Given the description of an element on the screen output the (x, y) to click on. 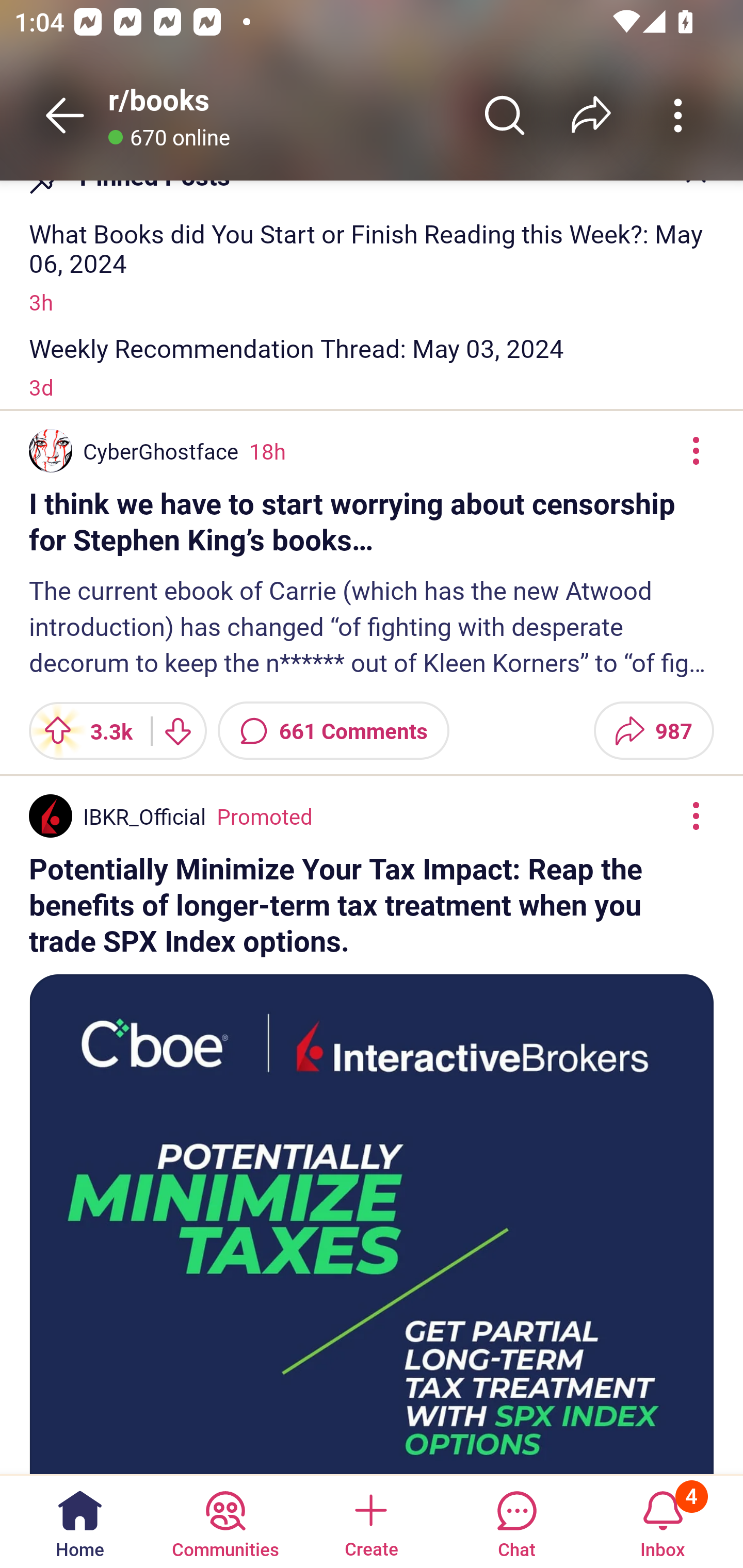
Back (64, 115)
Search r/﻿books (504, 115)
Share r/﻿books (591, 115)
More community actions (677, 115)
Weekly Recommendation Thread: May 03, 2024 3d (371, 366)
Home (80, 1520)
Communities (225, 1520)
Create a post Create (370, 1520)
Chat (516, 1520)
Inbox, has 4 notifications 4 Inbox (662, 1520)
